Given the description of an element on the screen output the (x, y) to click on. 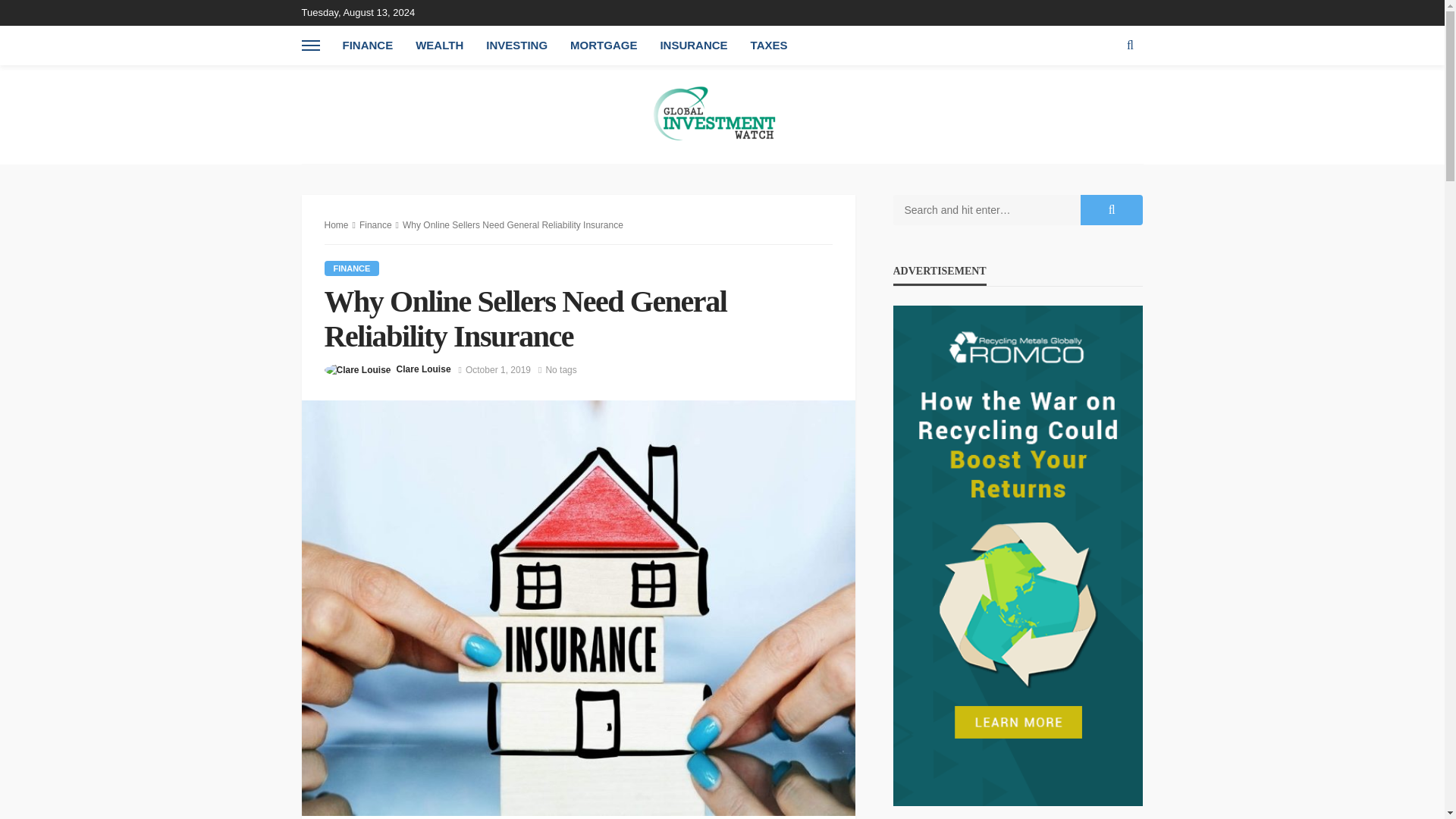
FINANCE (367, 45)
WEALTH (439, 45)
TAXES (769, 45)
Clare Louise (423, 368)
Finance (375, 225)
MORTGAGE (603, 45)
FINANCE (352, 268)
INSURANCE (692, 45)
Finance (352, 268)
Global Investment Watch (721, 114)
